Given the description of an element on the screen output the (x, y) to click on. 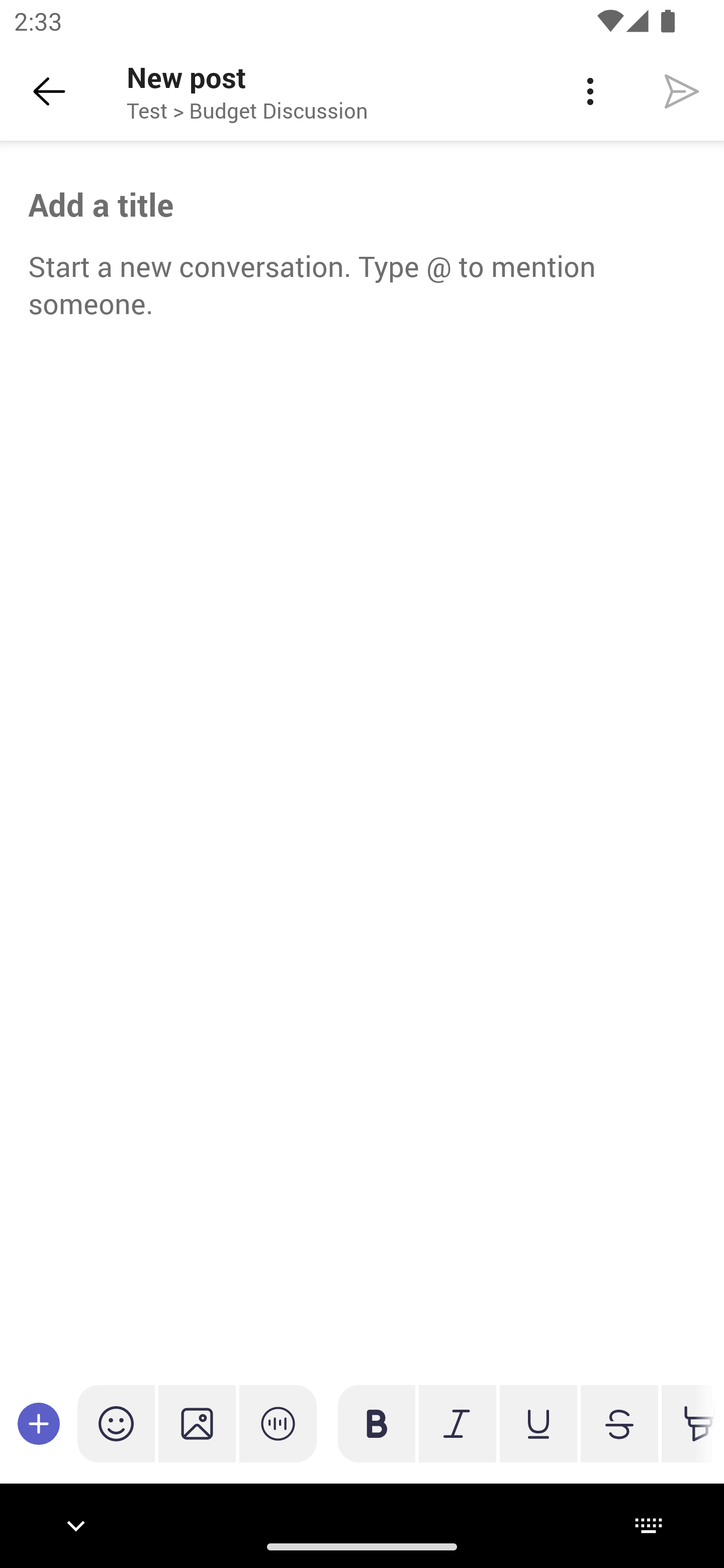
Back (49, 91)
Email options (589, 91)
Send message (681, 90)
Add a title (362, 204)
Compose options, collapsed (38, 1423)
GIFs and emojis picker (115, 1423)
Media (197, 1423)
Record audio message (278, 1423)
Bold (376, 1423)
Italic (456, 1423)
Underline (538, 1423)
Strikethrough (619, 1423)
Select text highlight color (688, 1423)
